Given the description of an element on the screen output the (x, y) to click on. 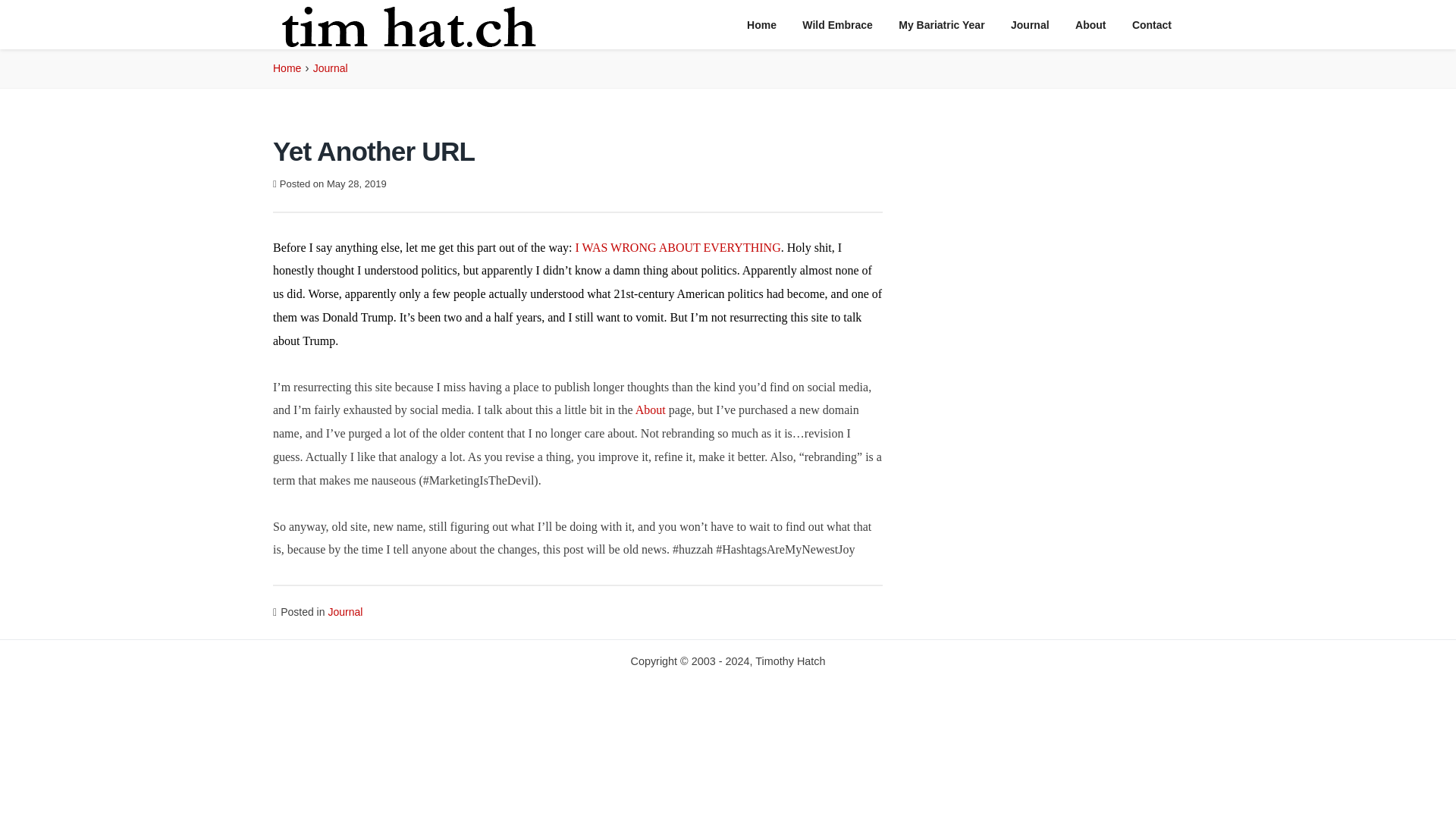
Journal (330, 68)
About (1090, 25)
Contact (1151, 25)
Home (761, 25)
Home (287, 68)
About (649, 409)
May 28, 2019 (356, 183)
Wild Embrace (836, 25)
My Bariatric Year (940, 25)
Journal (1029, 25)
Journal (344, 612)
I WAS WRONG ABOUT EVERYTHING (677, 246)
